Given the description of an element on the screen output the (x, y) to click on. 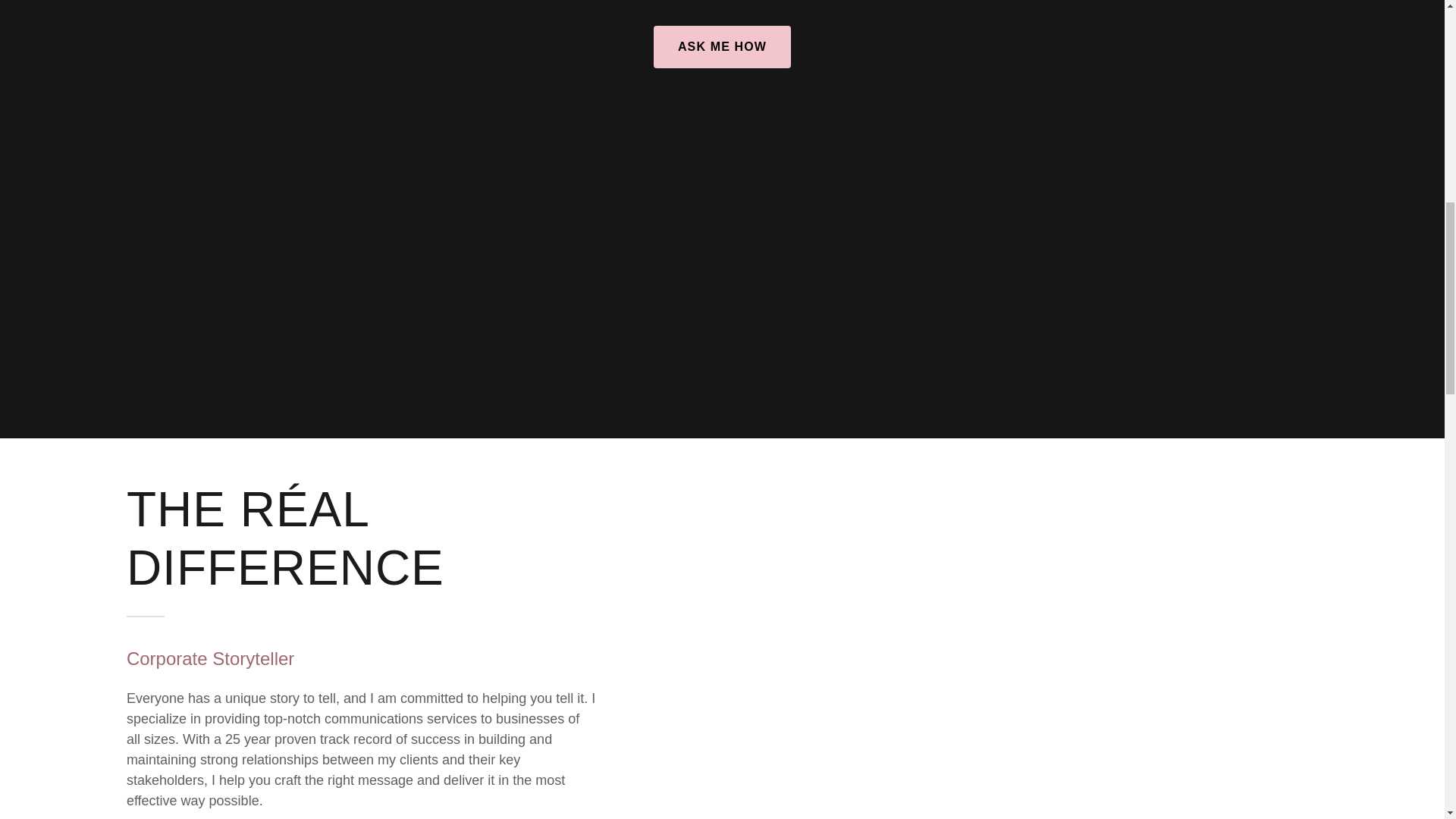
ASK ME HOW (721, 46)
ACCEPT (1345, 324)
DECLINE (1203, 324)
